Given the description of an element on the screen output the (x, y) to click on. 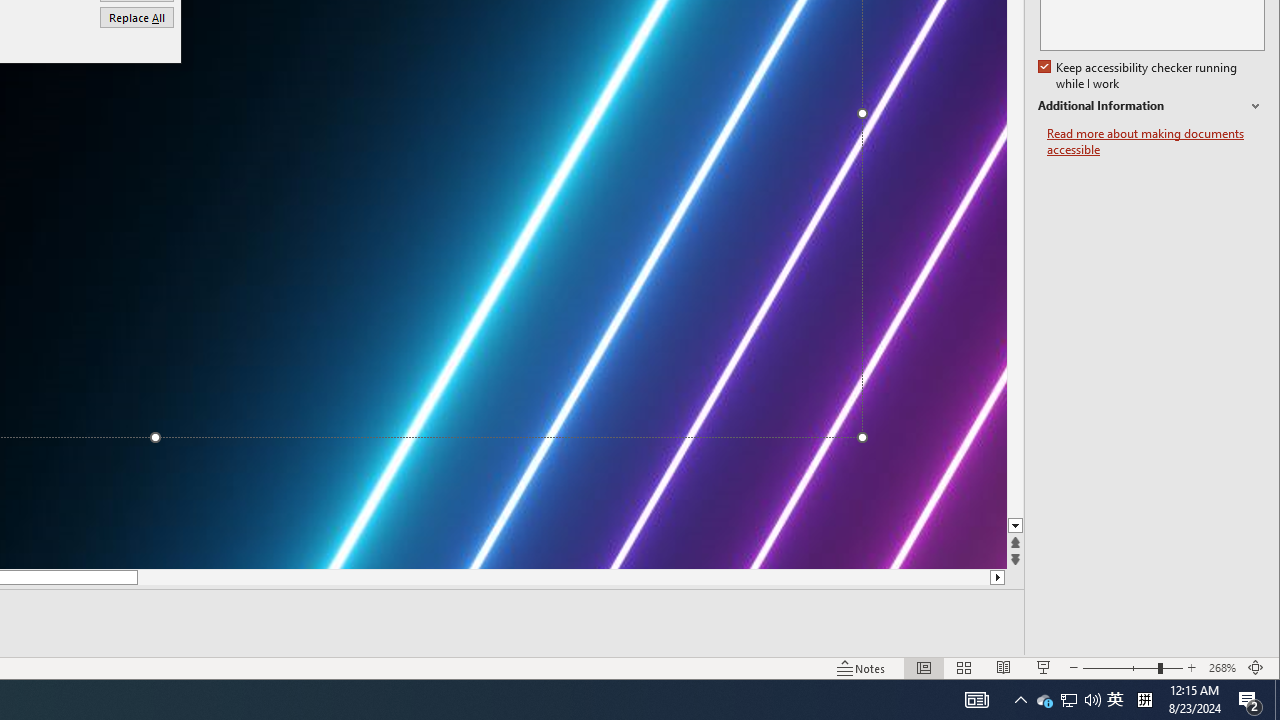
Keep accessibility checker running while I work (1044, 699)
Additional Information (1139, 76)
